Given the description of an element on the screen output the (x, y) to click on. 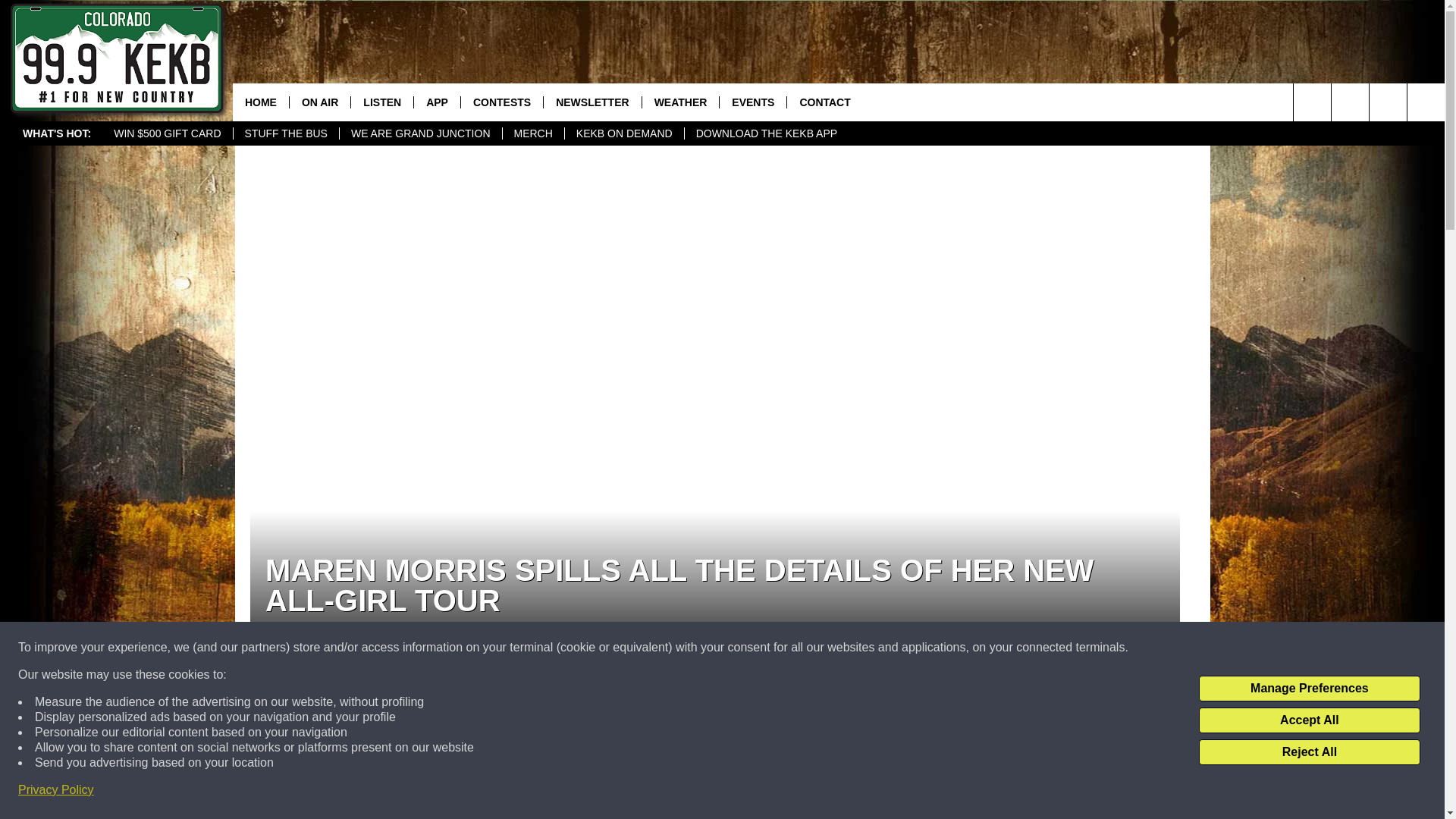
Share on Twitter (912, 724)
Reject All (1309, 751)
Privacy Policy (55, 789)
CONTESTS (501, 102)
MERCH (533, 133)
APP (436, 102)
Accept All (1309, 720)
Manage Preferences (1309, 688)
DOWNLOAD THE KEKB APP (766, 133)
WHAT'S HOT: (56, 133)
WE ARE GRAND JUNCTION (420, 133)
HOME (260, 102)
Share on Facebook (517, 724)
LISTEN (381, 102)
ON AIR (319, 102)
